Given the description of an element on the screen output the (x, y) to click on. 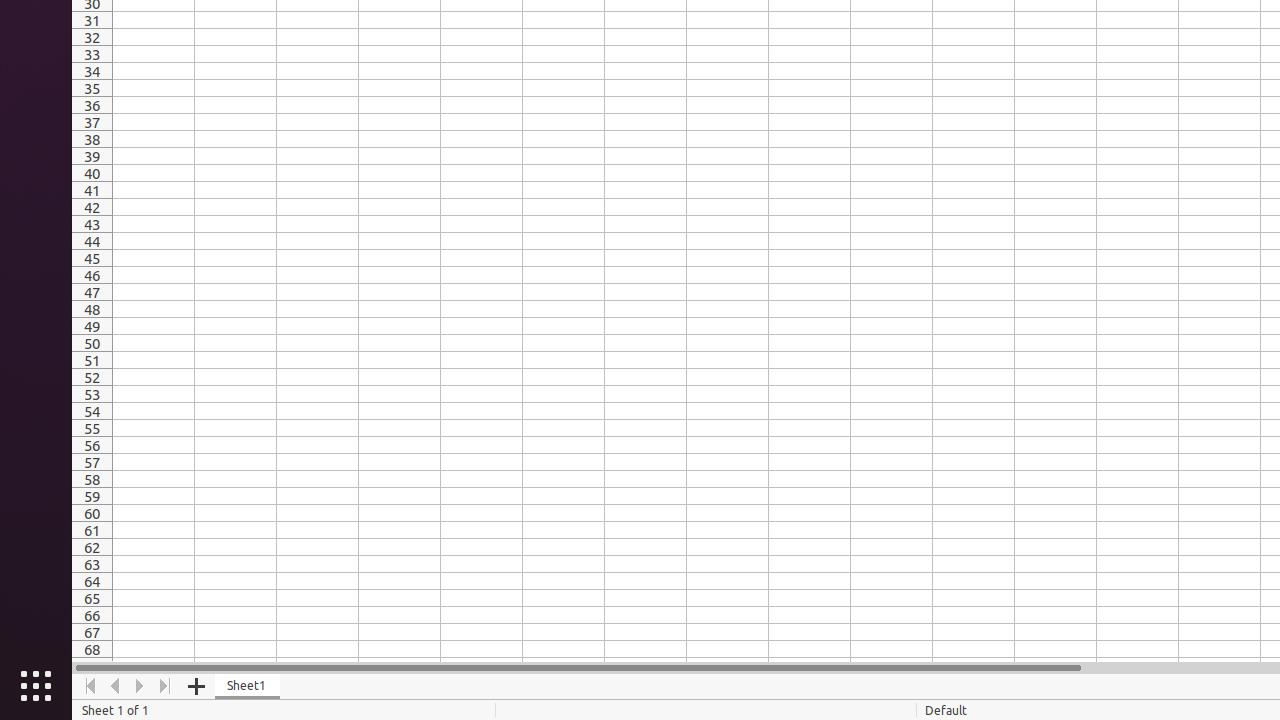
Sheet1 Element type: page-tab (247, 686)
Move Right Element type: push-button (140, 686)
Move Left Element type: push-button (115, 686)
Show Applications Element type: toggle-button (36, 686)
Move To Home Element type: push-button (90, 686)
